Given the description of an element on the screen output the (x, y) to click on. 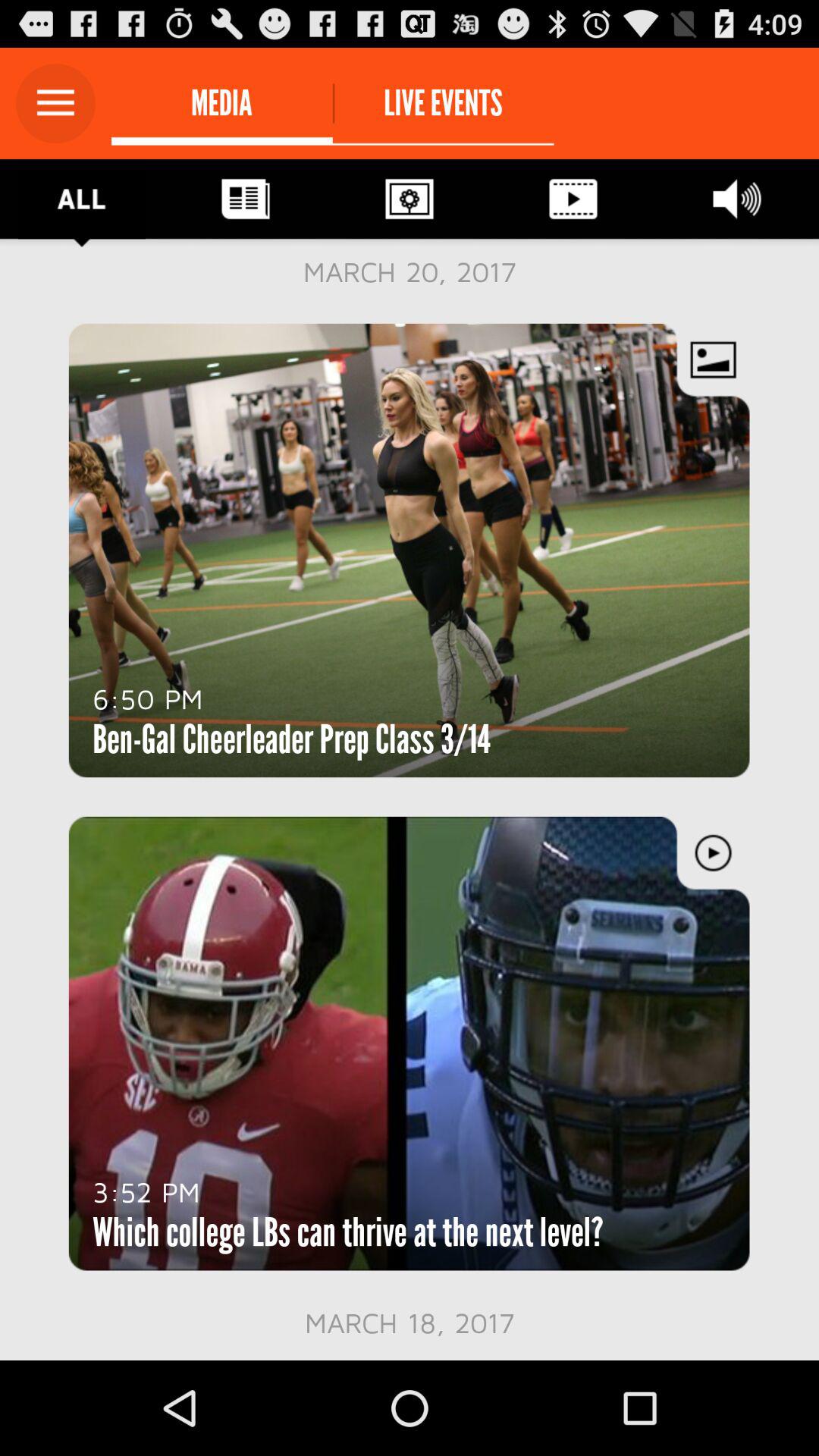
click the icon at the bottom left corner (146, 1191)
